Given the description of an element on the screen output the (x, y) to click on. 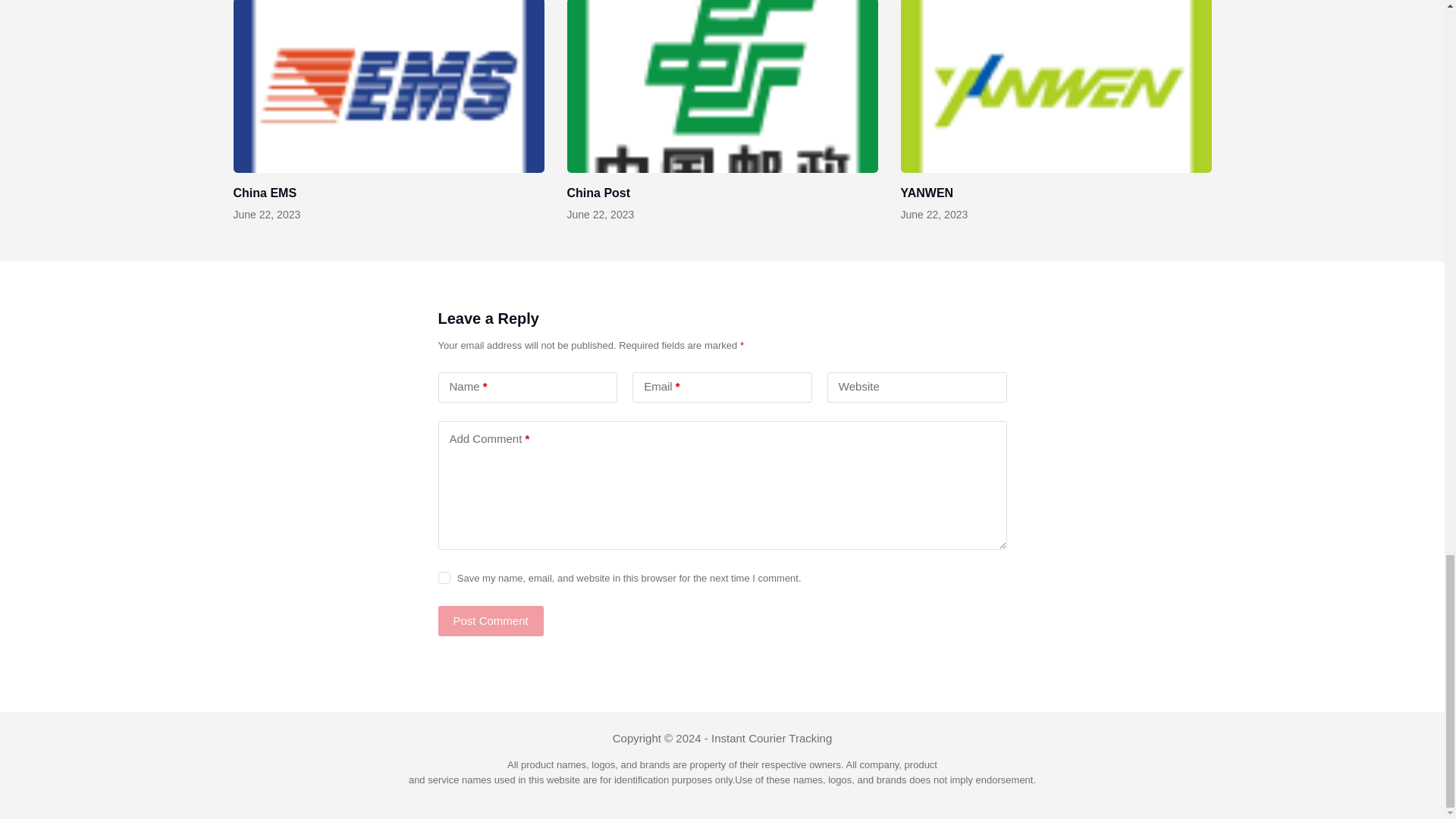
China Post (598, 192)
China EMS (264, 192)
yes (443, 577)
Post Comment (490, 621)
YANWEN (927, 192)
